Given the description of an element on the screen output the (x, y) to click on. 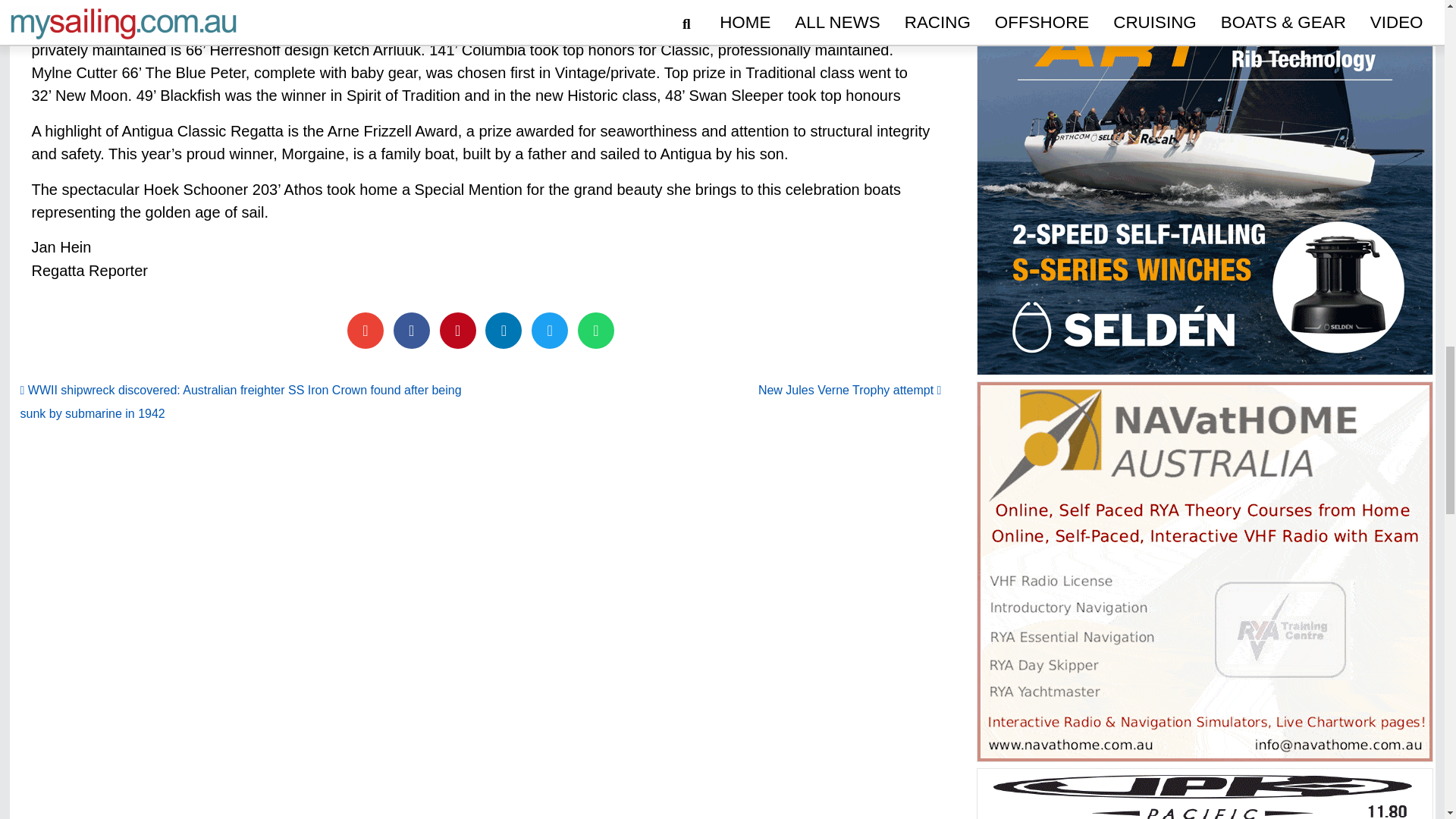
New Jules Verne Trophy attempt  (850, 390)
Share by Email (365, 330)
